Given the description of an element on the screen output the (x, y) to click on. 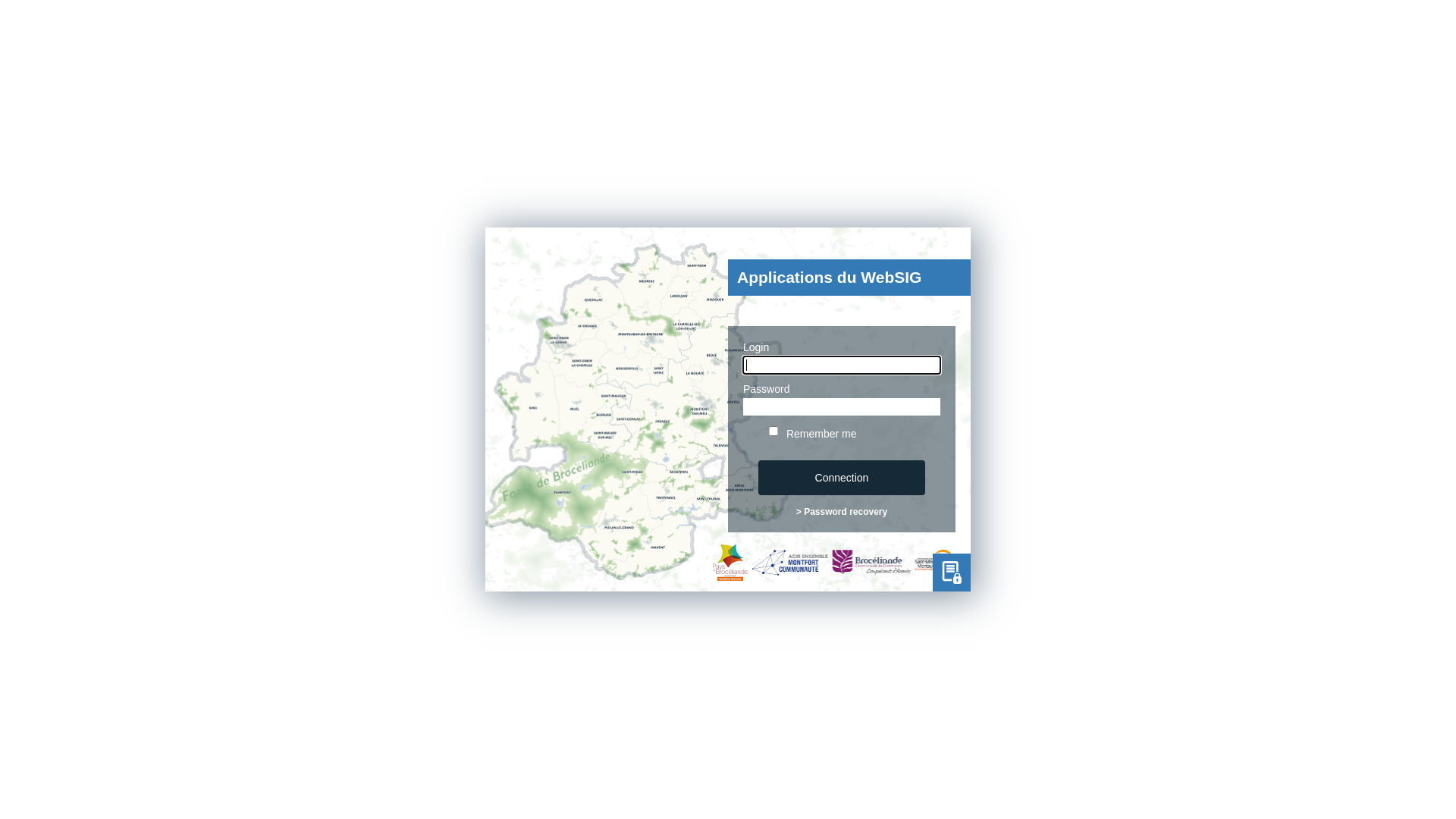
> Password recovery Element type: text (841, 511)
Connection Element type: text (841, 477)
